Given the description of an element on the screen output the (x, y) to click on. 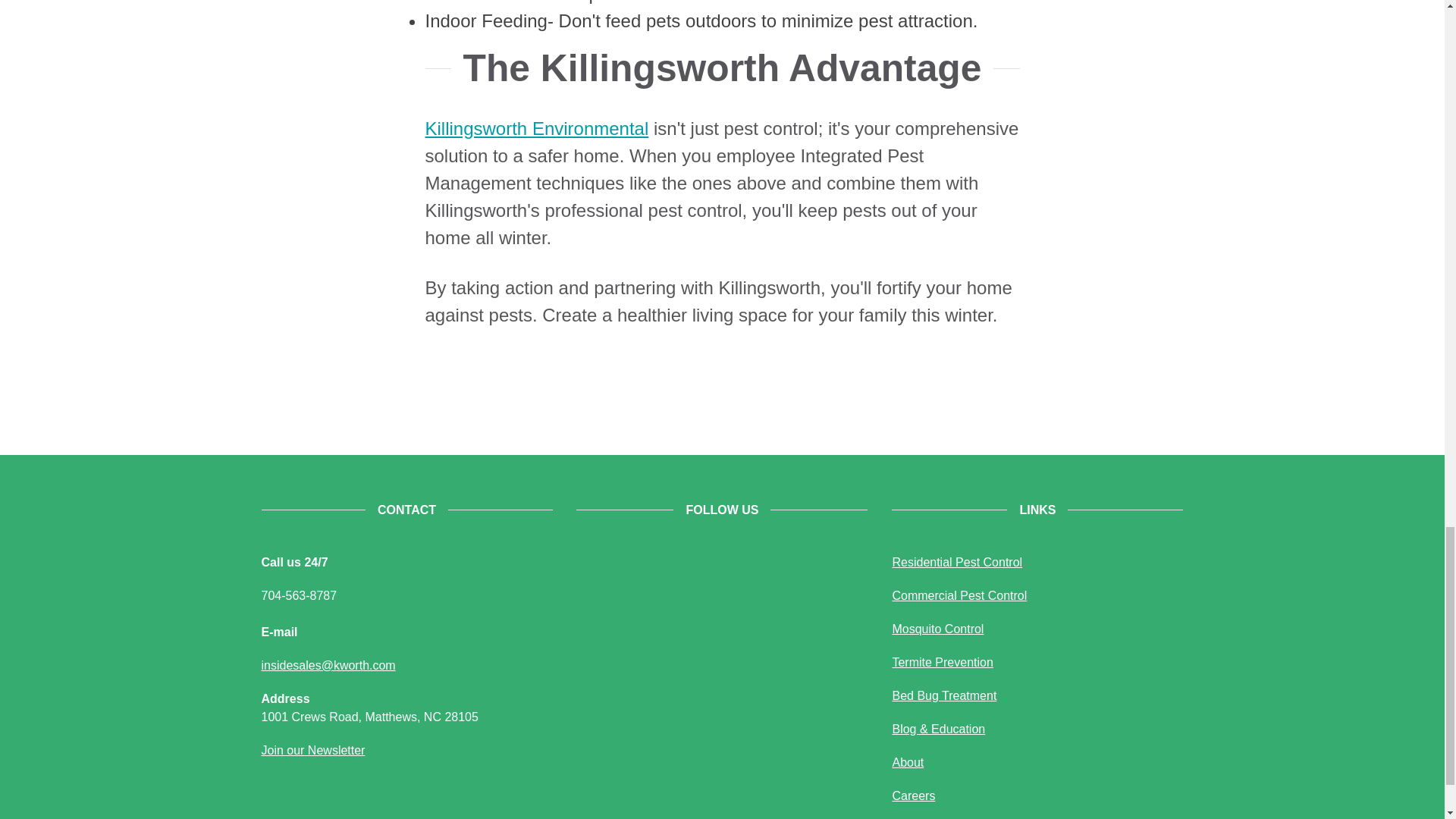
Blog (938, 728)
About (907, 762)
Careers (912, 795)
Bed Bug Treatment Charlotte (943, 695)
Pest Control (956, 562)
Join Our Newsletter (312, 749)
Mosquito Control (937, 628)
Termite Prevention (941, 662)
Commercial Pest Control (958, 594)
